Given the description of an element on the screen output the (x, y) to click on. 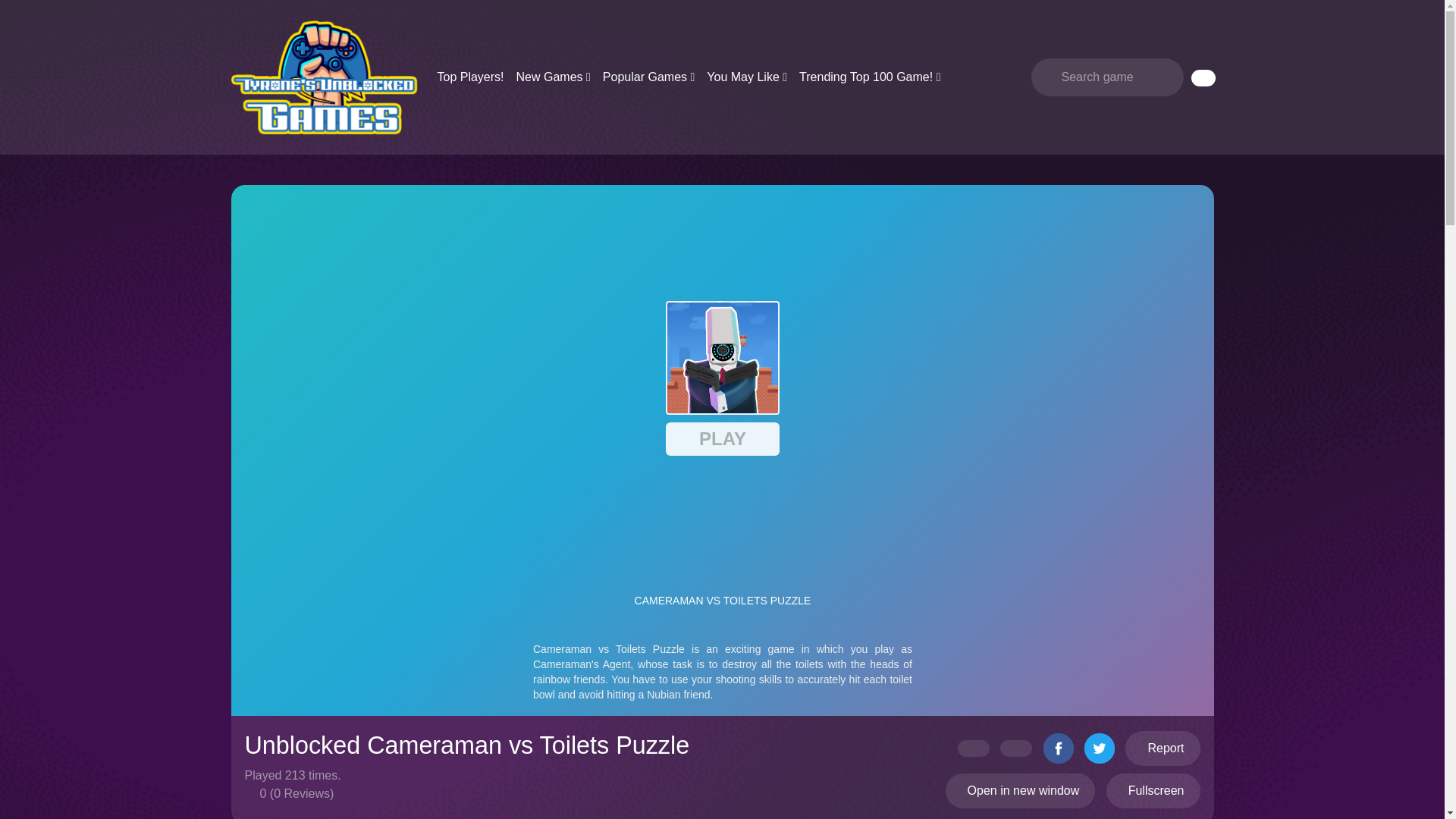
Open in new window (1020, 790)
Report (1162, 748)
Top Players! (469, 77)
Fullscreen (1152, 790)
